Given the description of an element on the screen output the (x, y) to click on. 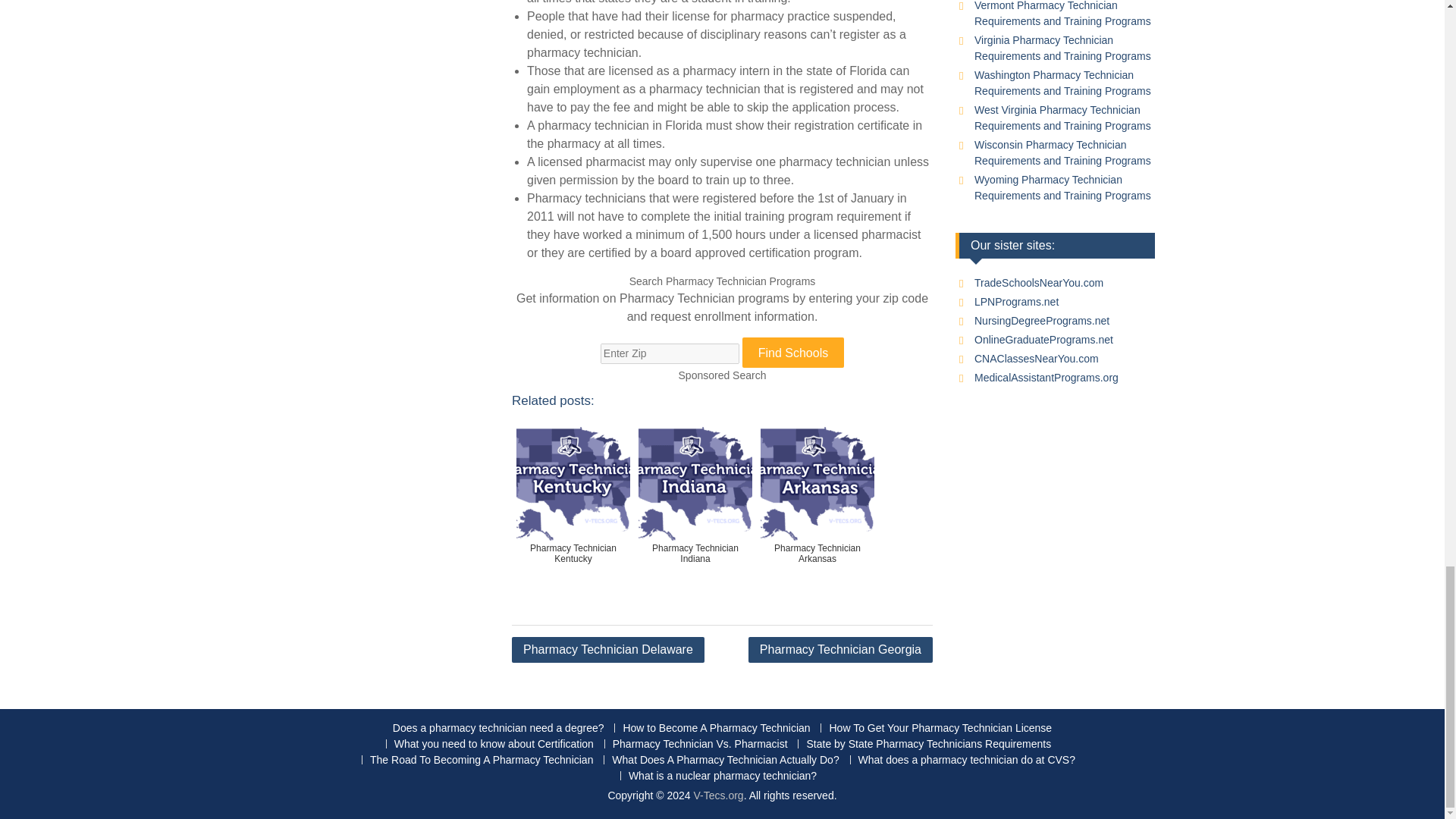
Find Schools (793, 352)
